Given the description of an element on the screen output the (x, y) to click on. 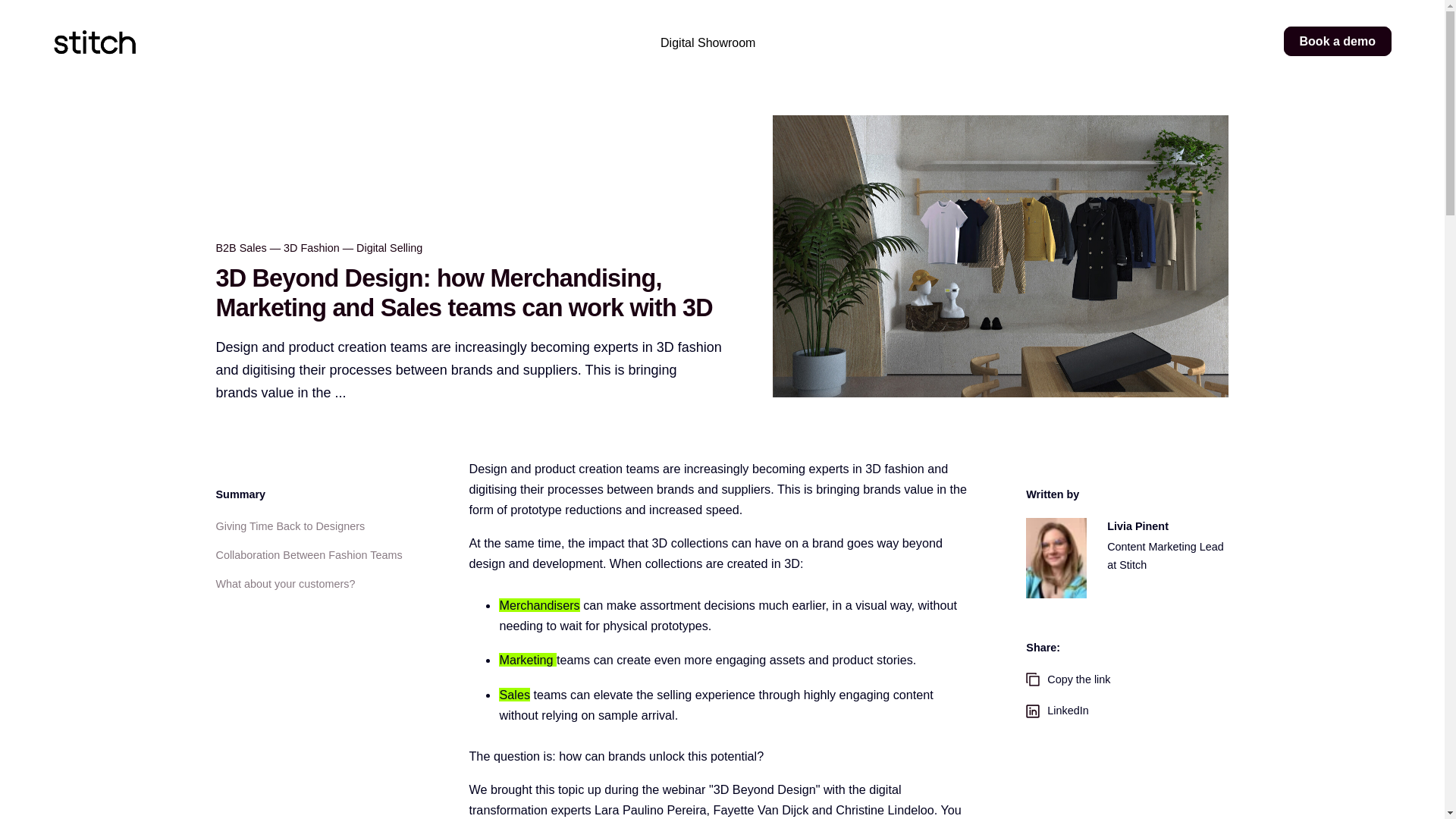
Copy the link (1127, 679)
Collaboration Between Fashion Teams (308, 556)
B2B Sales (240, 247)
Digital Selling (389, 247)
Giving Time Back to Designers (290, 526)
3D Fashion (311, 247)
What about your customers? (285, 584)
Digital Showroom (708, 43)
Book a demo (1337, 41)
